Given the description of an element on the screen output the (x, y) to click on. 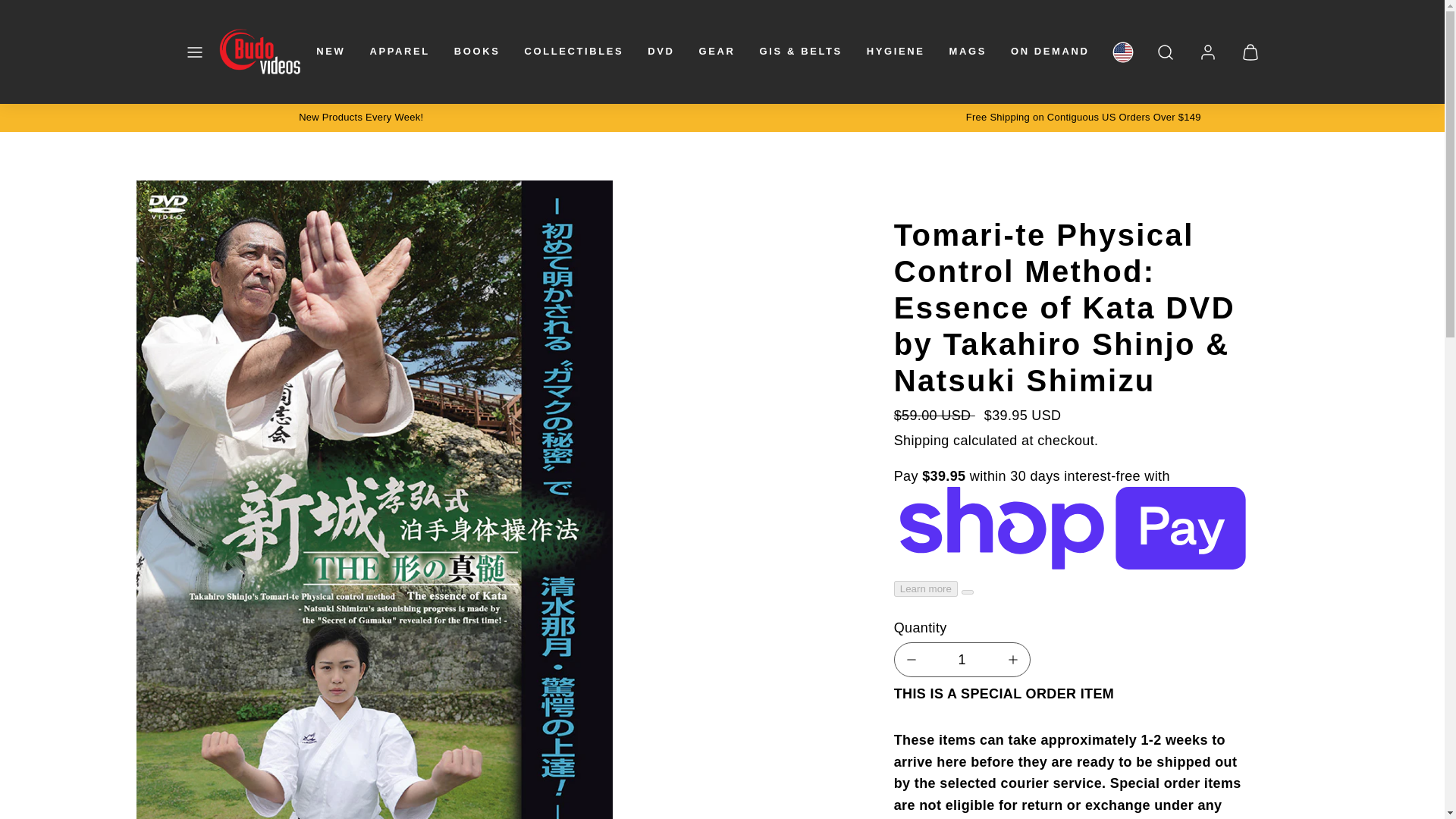
SEARCH (1164, 52)
ON DEMAND (1050, 51)
HYGIENE (895, 51)
MAGS (967, 51)
BOOKS (477, 51)
DVD (660, 51)
ACCOUNT (1207, 52)
1 (961, 659)
NEW (330, 51)
GEAR (717, 51)
